Given the description of an element on the screen output the (x, y) to click on. 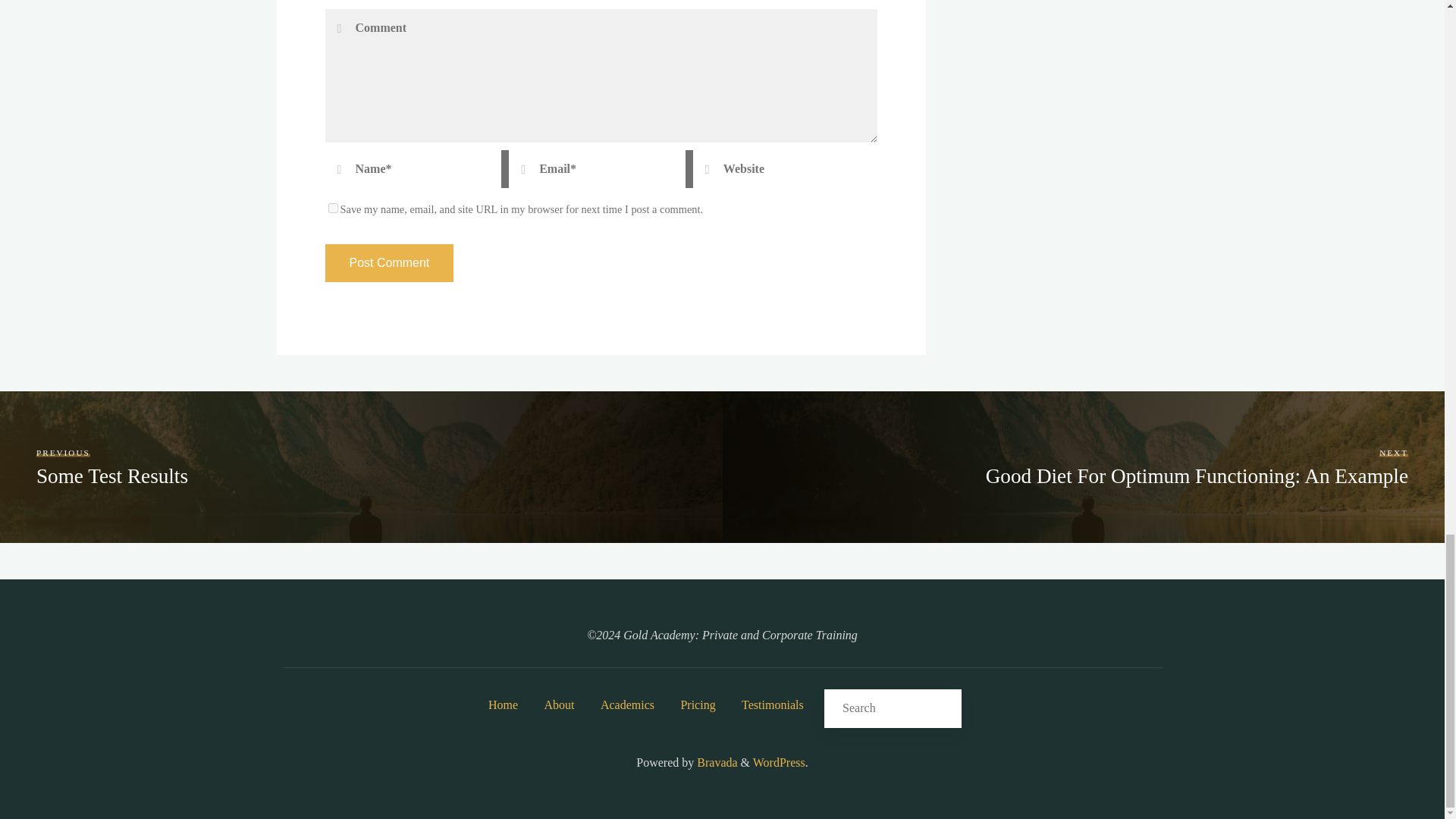
Bravada WordPress Theme by Cryout Creations (715, 762)
Post Comment (388, 262)
Semantic Personal Publishing Platform (778, 762)
yes (332, 207)
